Given the description of an element on the screen output the (x, y) to click on. 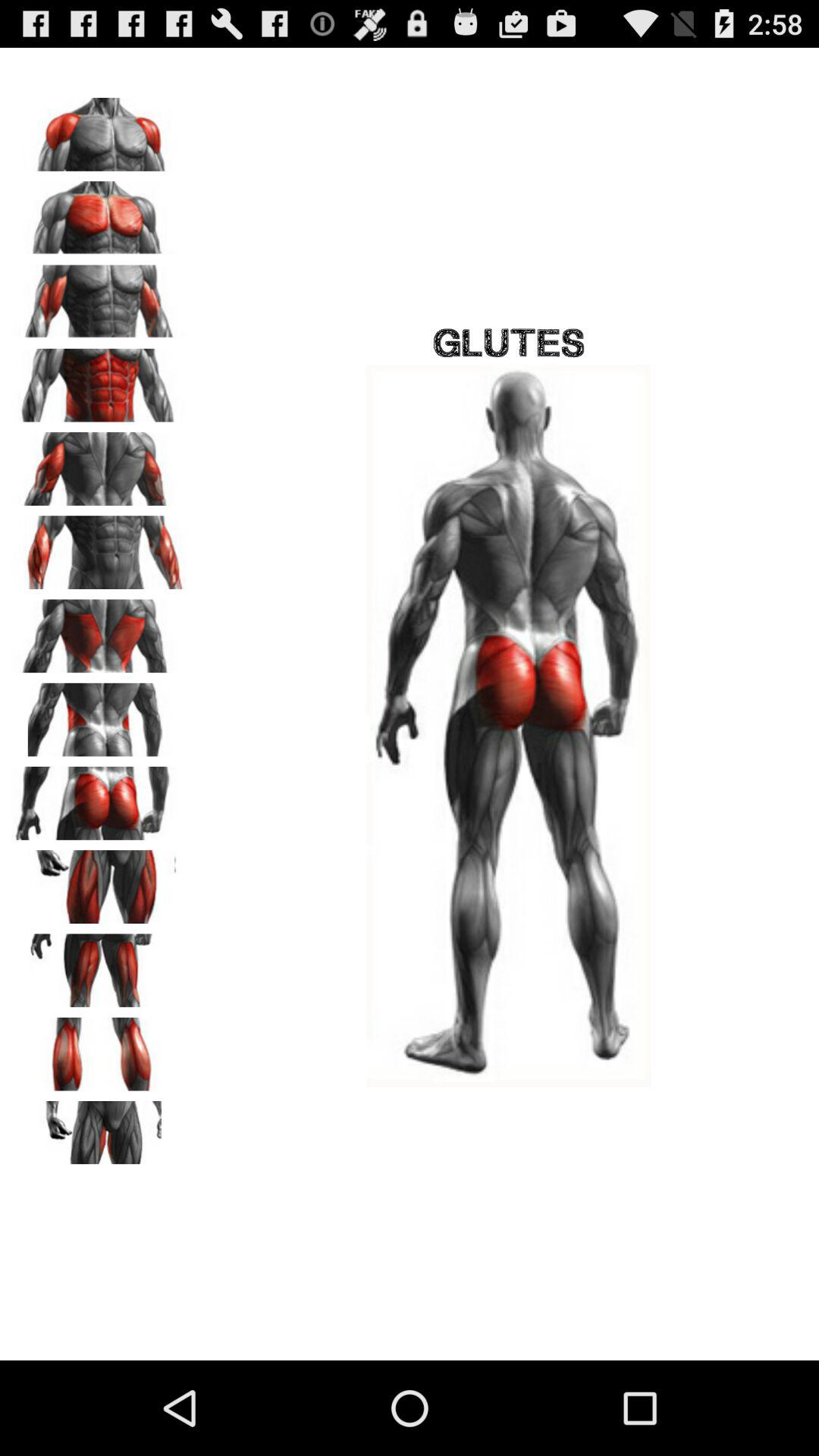
external oblique selection (99, 714)
